Given the description of an element on the screen output the (x, y) to click on. 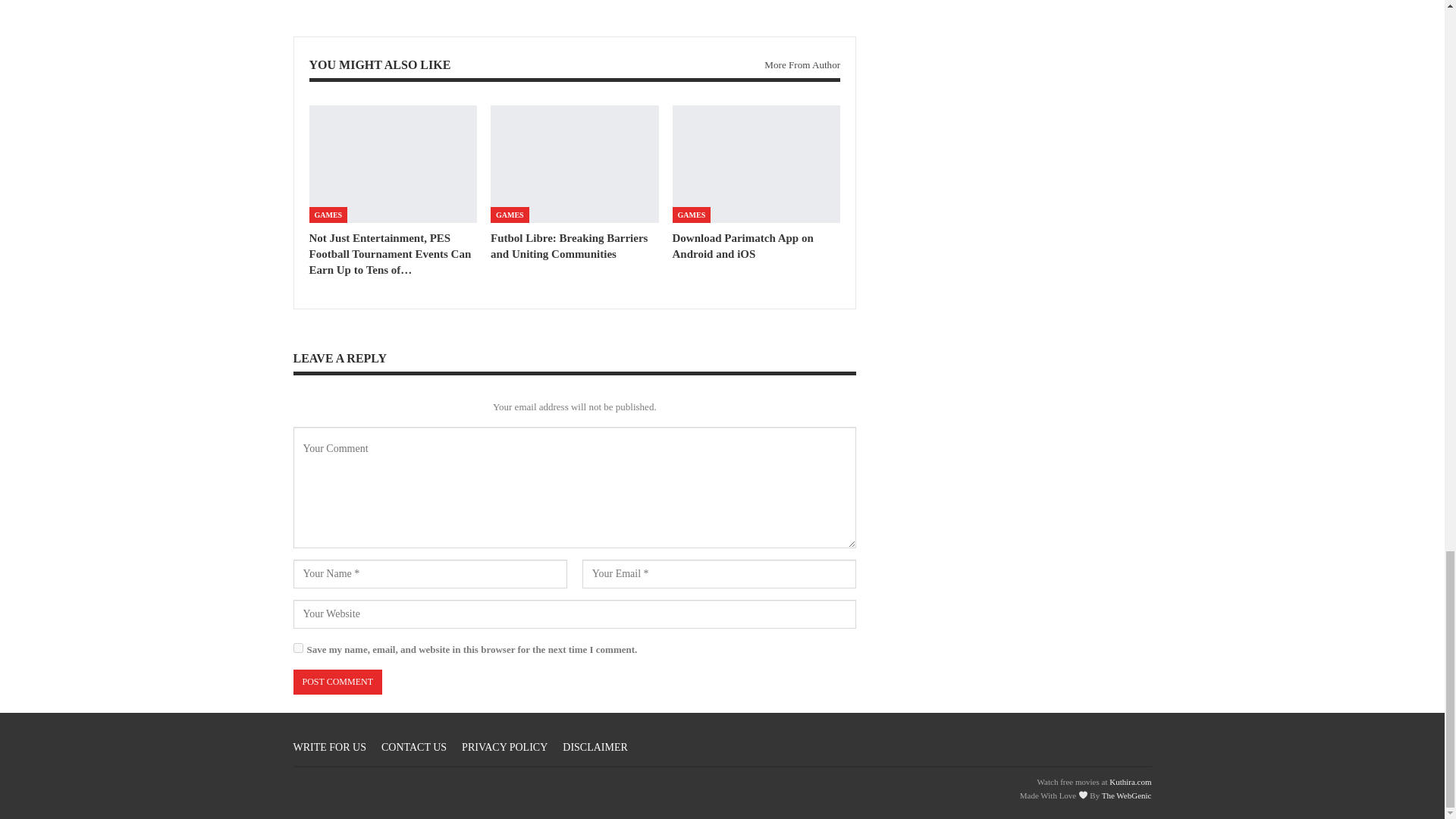
Download Parimatch App on Android and iOS (756, 163)
Post Comment (336, 681)
Download Parimatch App on Android and iOS (742, 245)
Futbol Libre: Breaking Barriers and Uniting Communities (568, 245)
Futbol Libre: Breaking Barriers and Uniting Communities (574, 163)
yes (297, 647)
